Given the description of an element on the screen output the (x, y) to click on. 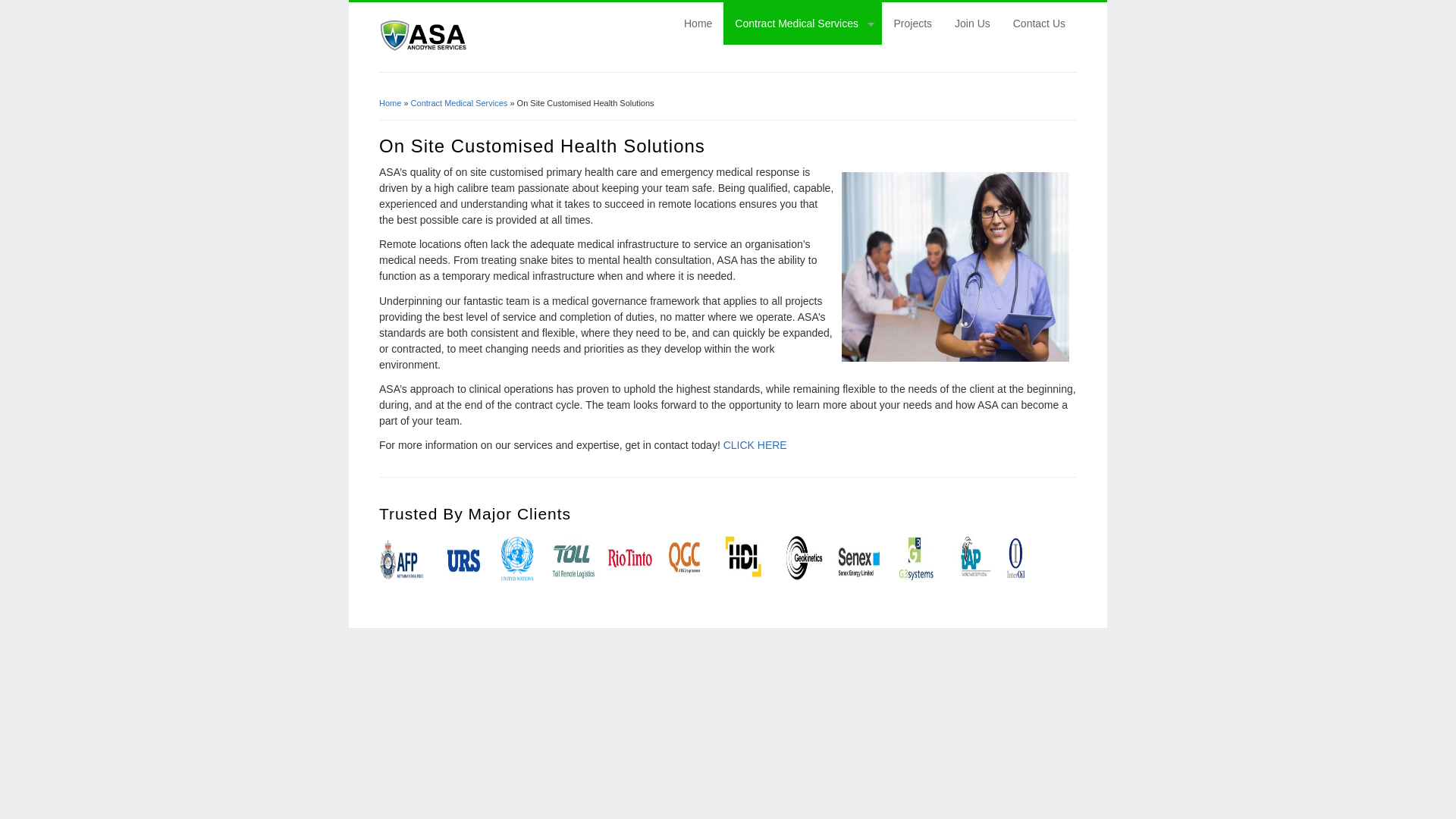
CLICK HERE (755, 444)
Projects (912, 23)
Contact Us (1039, 23)
Home (697, 23)
Home (389, 102)
Contract Medical Services (459, 102)
Home (423, 48)
Join Us (972, 23)
